Given the description of an element on the screen output the (x, y) to click on. 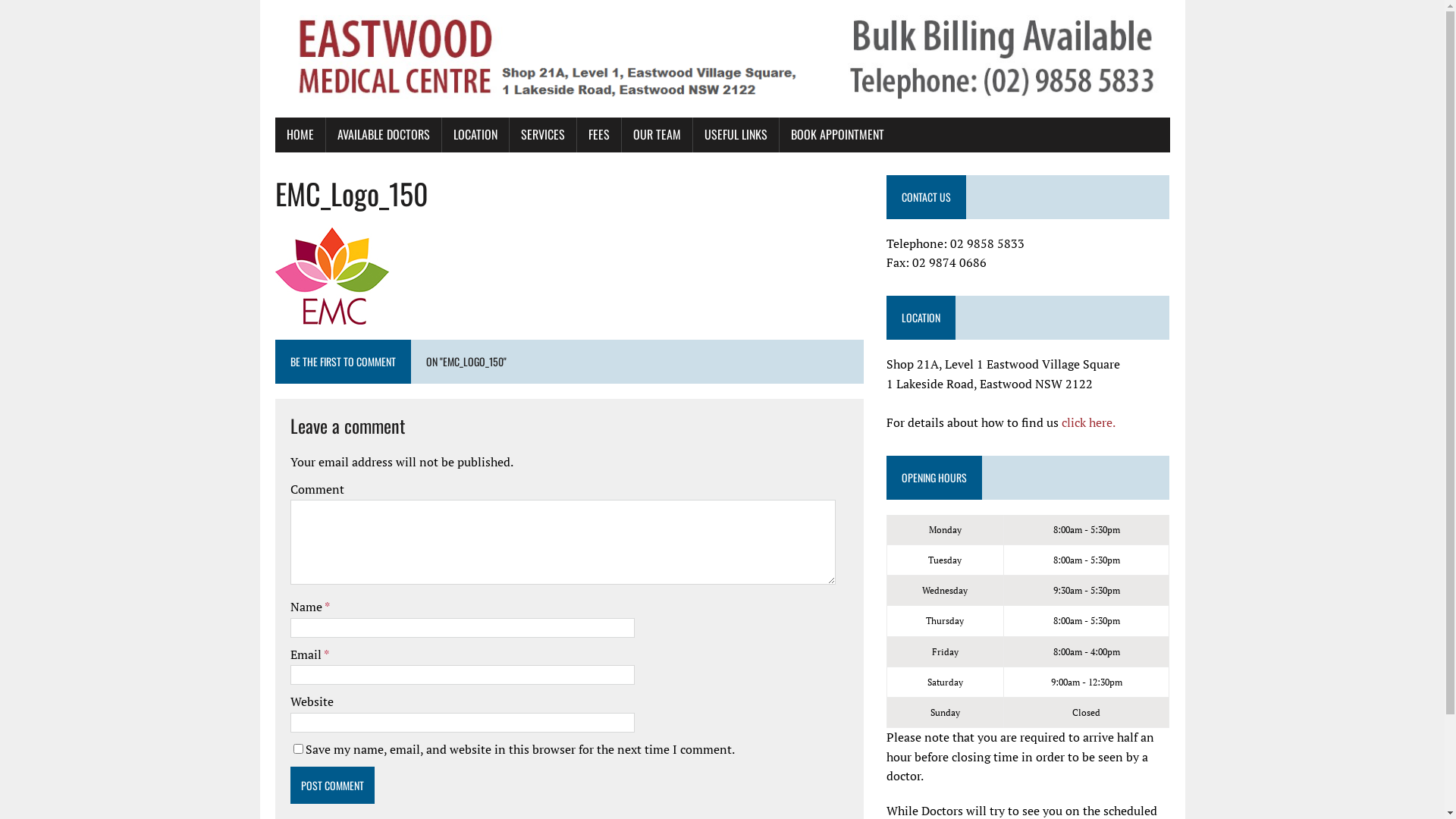
AVAILABLE DOCTORS Element type: text (383, 134)
Eastwood medical centre Element type: hover (721, 58)
click here. Element type: text (1088, 422)
LOCATION Element type: text (474, 134)
USEFUL LINKS Element type: text (735, 134)
Post Comment Element type: text (331, 784)
FEES Element type: text (598, 134)
SERVICES Element type: text (542, 134)
BOOK APPOINTMENT Element type: text (837, 134)
OUR TEAM Element type: text (656, 134)
HOME Element type: text (299, 134)
